Given the description of an element on the screen output the (x, y) to click on. 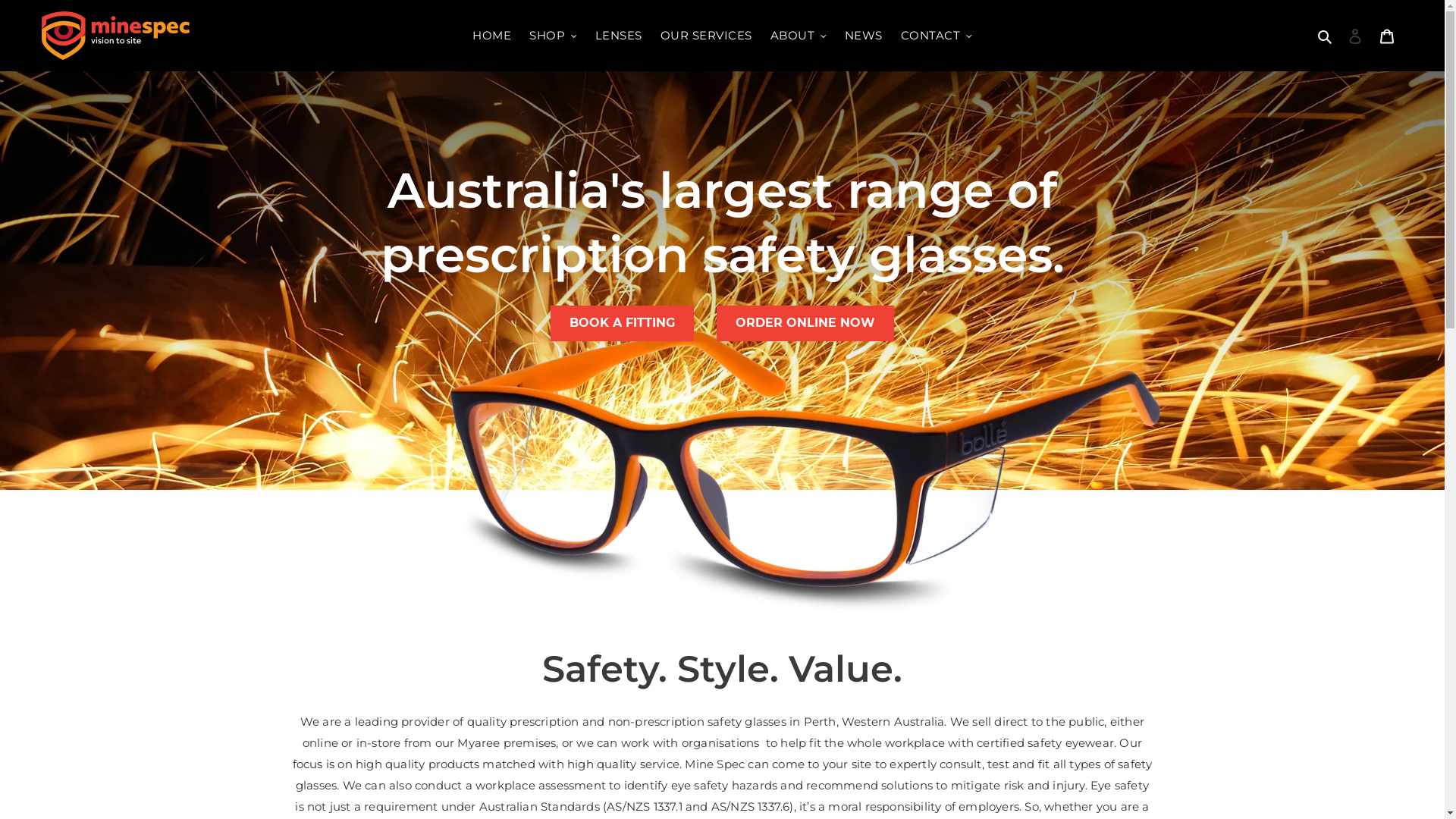
BOOK A FITTING Element type: text (621, 323)
Cart Element type: text (1386, 35)
NEWS Element type: text (863, 36)
Log in Element type: text (1355, 35)
Search Element type: text (1325, 35)
SHOP Element type: text (552, 36)
OUR SERVICES Element type: text (705, 36)
LENSES Element type: text (618, 36)
HOME Element type: text (491, 36)
ABOUT Element type: text (798, 36)
ORDER ONLINE NOW Element type: text (805, 323)
CONTACT Element type: text (936, 36)
